Given the description of an element on the screen output the (x, y) to click on. 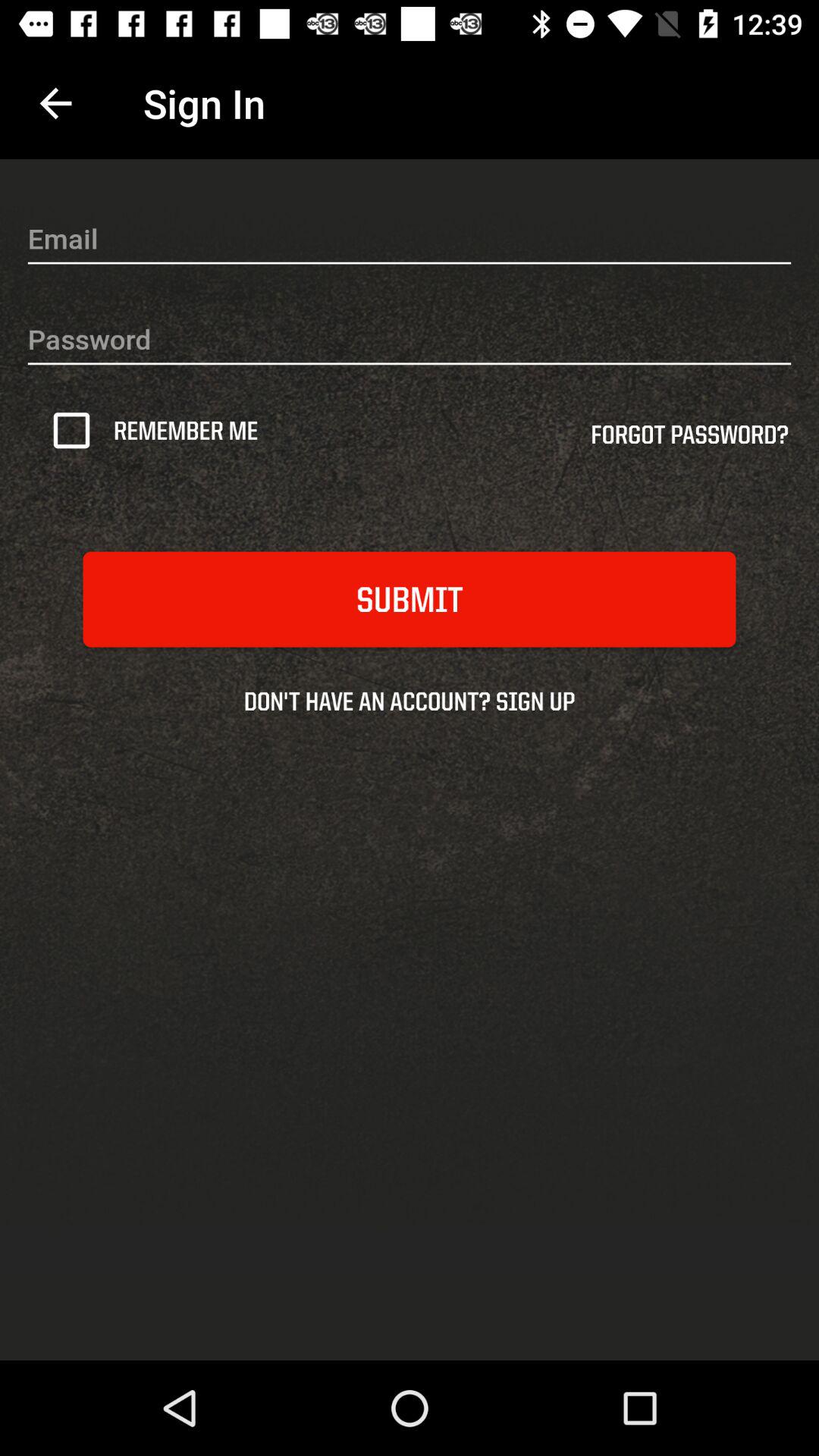
flip to forgot password? icon (689, 439)
